Given the description of an element on the screen output the (x, y) to click on. 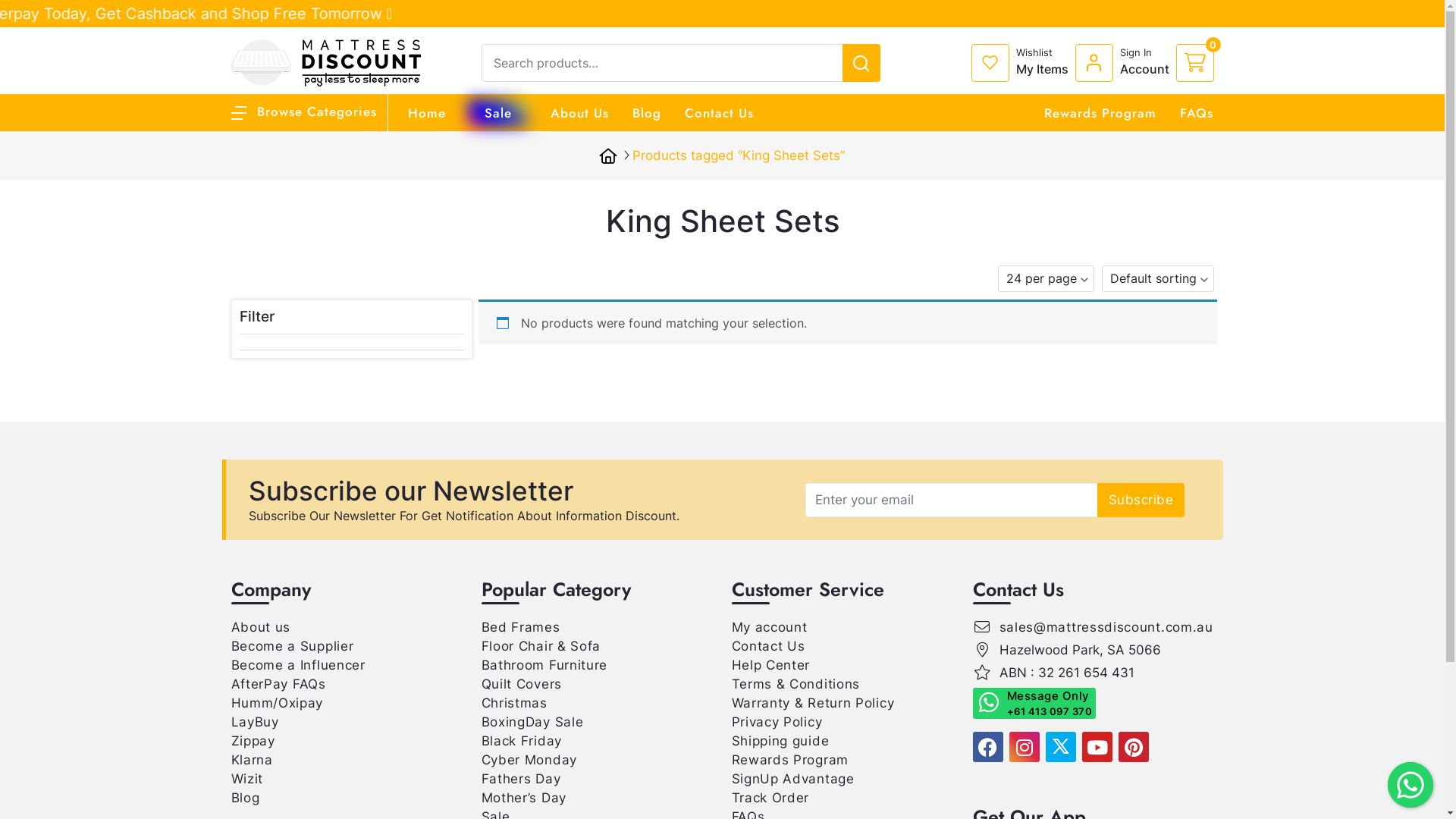
Wizit Element type: text (246, 778)
Help Center Element type: text (770, 664)
Message Only
+61 413 097 370 Element type: text (1033, 702)
Klarna Element type: text (251, 759)
Contact Us Element type: text (718, 112)
sales@mattressdiscount.com.au Element type: text (1106, 626)
Bed Frames Element type: text (519, 626)
Zippay Element type: text (252, 740)
Search Element type: text (1362, 17)
Shipping guide Element type: text (779, 740)
pinterest Element type: hover (1132, 746)
Sale Element type: text (497, 112)
Blog Element type: text (646, 112)
Black Friday Element type: text (520, 740)
Sign In
Account Element type: text (1125, 62)
Privacy Policy Element type: text (776, 721)
Contact Us Element type: text (767, 645)
Browse Categories Element type: text (303, 111)
View All Product Element type: text (1326, 11)
Bathroom Furniture Element type: text (543, 664)
About Us Element type: text (579, 112)
Rewards Program Element type: text (1099, 112)
Warranty & Return Policy Element type: text (812, 702)
instagram Element type: hover (1023, 746)
Subscribe Element type: text (1141, 499)
0 Element type: text (1194, 62)
Rewards Program Element type: text (789, 759)
Wishlist
My Items Element type: text (1022, 62)
Become a Influencer Element type: text (297, 664)
Humm/Oxipay Element type: text (276, 702)
About us Element type: text (260, 626)
Cyber Monday Element type: text (528, 759)
Track Order Element type: text (770, 797)
Become a Supplier Element type: text (291, 645)
Floor Chair & Sofa Element type: text (540, 645)
twitter Element type: hover (1059, 746)
Christmas Element type: text (513, 702)
Quilt Covers Element type: text (520, 683)
FAQs Element type: text (1196, 112)
Terms & Conditions Element type: text (795, 683)
SignUp Advantage Element type: text (792, 778)
Fathers Day Element type: text (520, 778)
My account Element type: text (768, 626)
youtube Element type: hover (1096, 746)
Home Element type: text (426, 112)
BoxingDay Sale Element type: text (531, 721)
LayBuy Element type: text (254, 721)
AfterPay FAQs Element type: text (277, 683)
facebook Element type: hover (987, 746)
Blog Element type: text (244, 797)
